Given the description of an element on the screen output the (x, y) to click on. 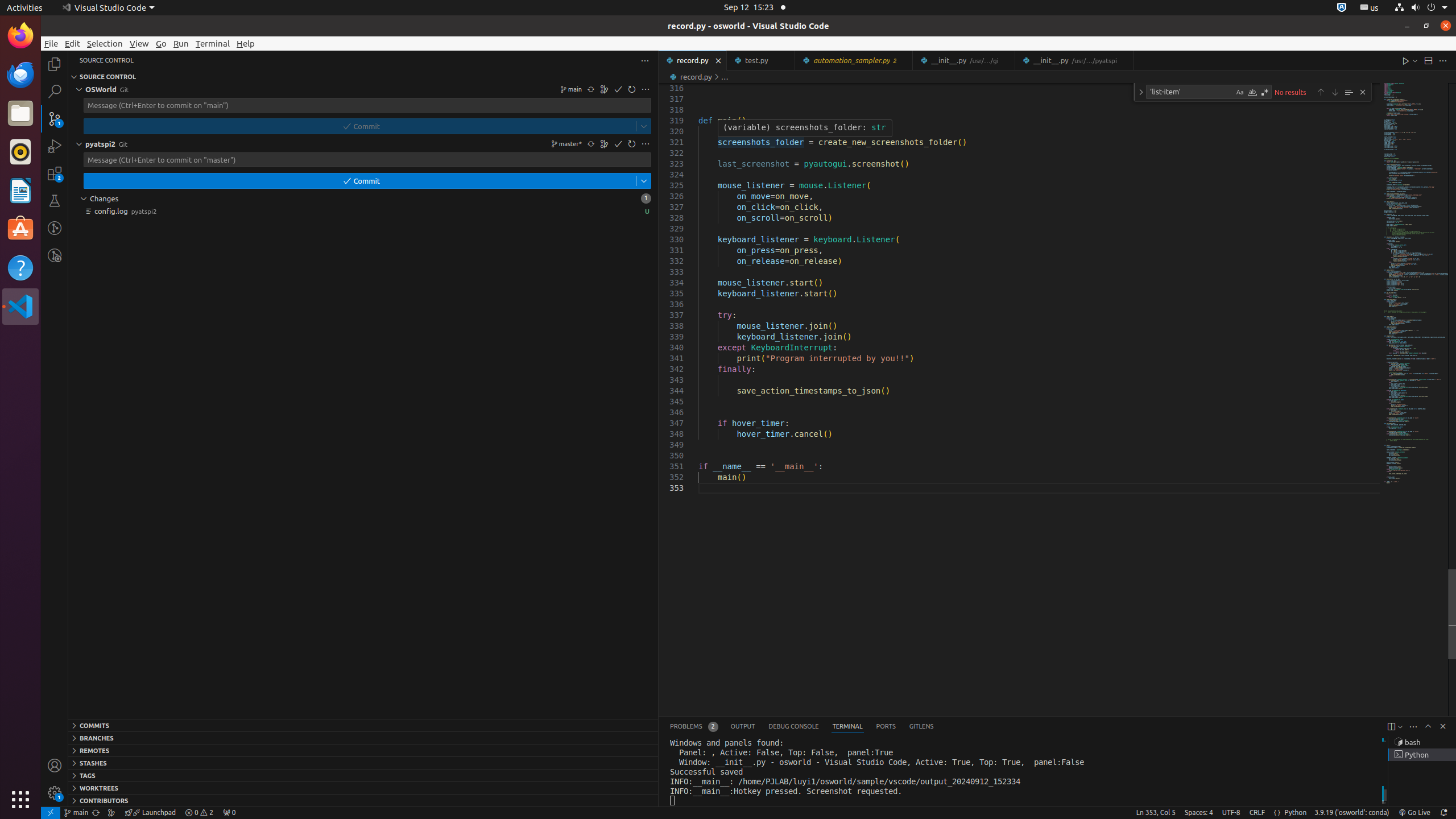
More Actions... Element type: push-button (1442, 60)
Tags Section Element type: push-button (363, 774)
Stashes Section Element type: push-button (363, 762)
Spaces: 4 Element type: push-button (1198, 812)
